Given the description of an element on the screen output the (x, y) to click on. 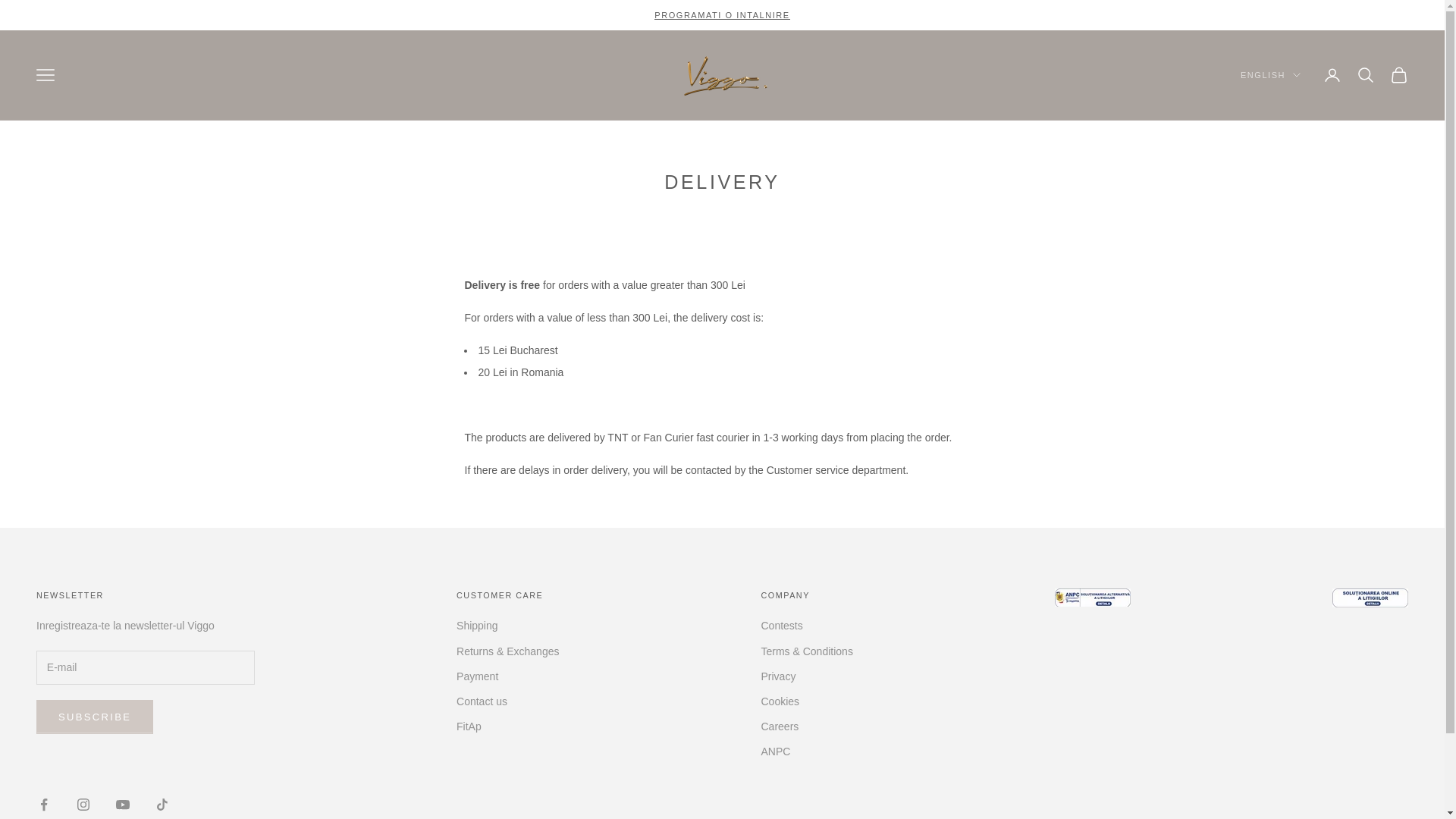
Payment (477, 676)
Open account page (1331, 75)
Open search (1365, 75)
Contact us (481, 701)
SUBSCRIBE (94, 716)
Cookies (780, 701)
Open cart (1398, 75)
PROGRAMATI O INTALNIRE (721, 14)
ENGLISH (1270, 74)
Shipping (477, 625)
